Given the description of an element on the screen output the (x, y) to click on. 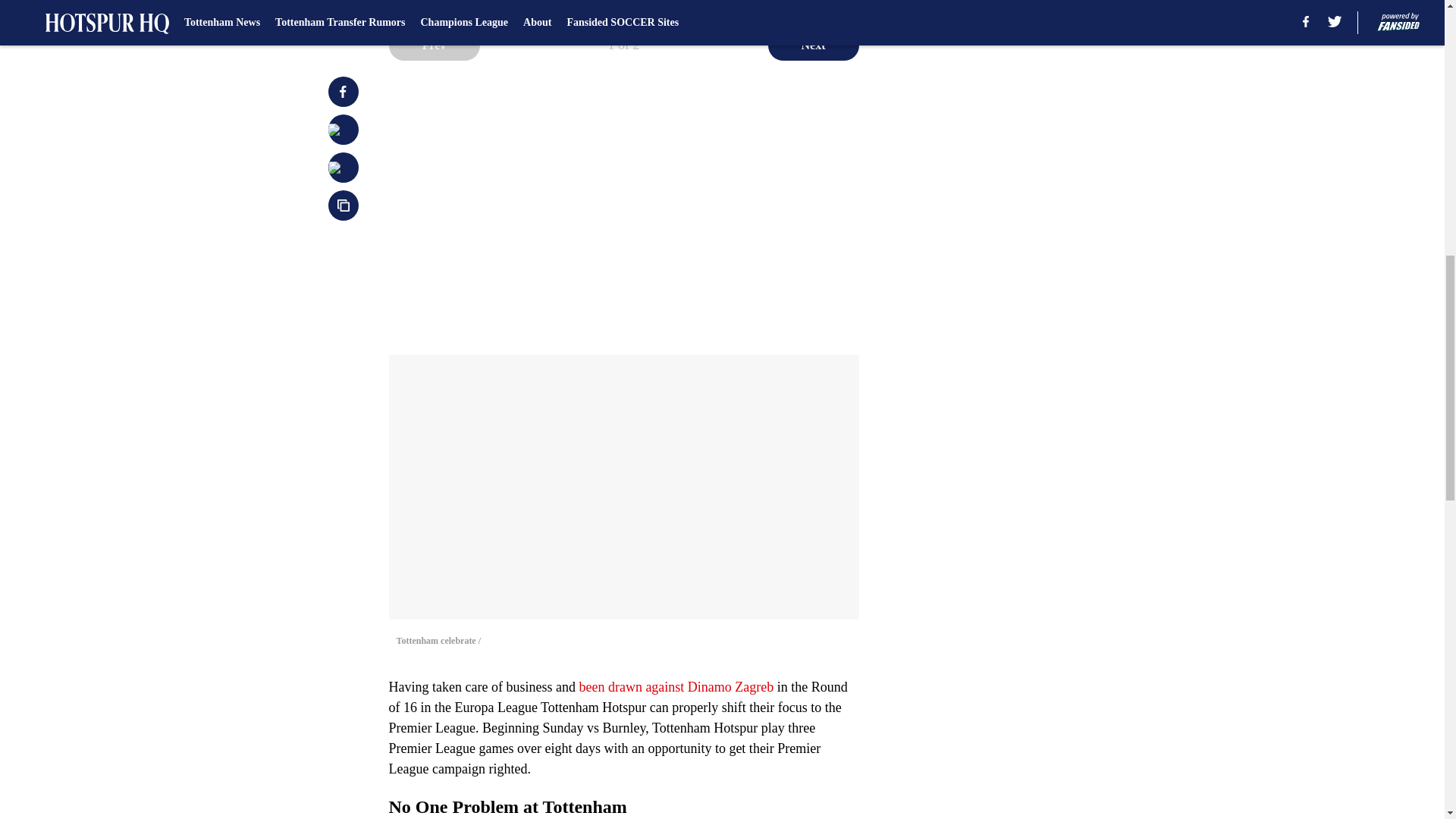
been drawn against Dinamo Zagreb (674, 686)
Next (813, 45)
Prev (433, 45)
